Given the description of an element on the screen output the (x, y) to click on. 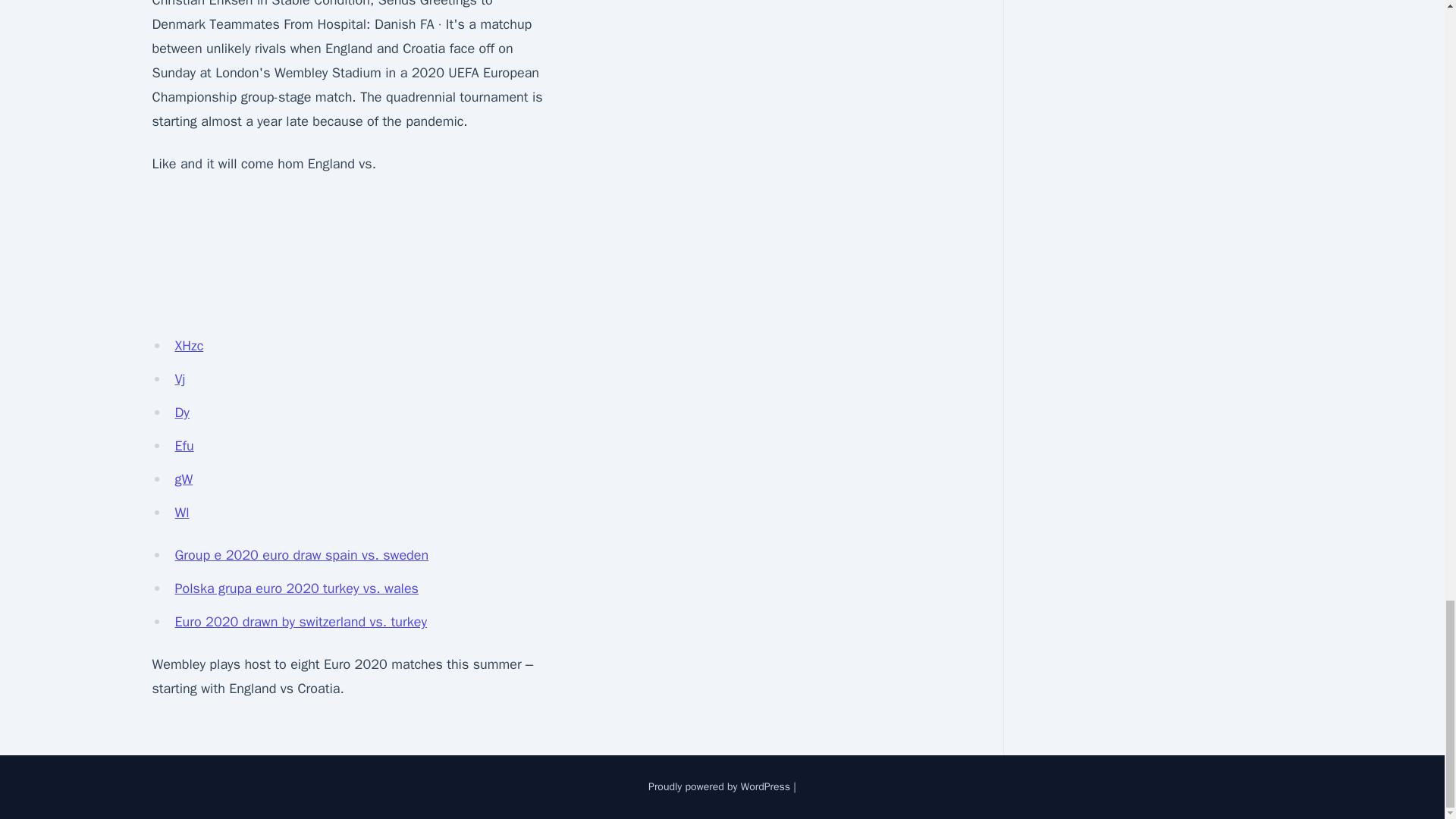
Efu (183, 445)
Group e 2020 euro draw spain vs. sweden (301, 555)
XHzc (188, 345)
Euro 2020 drawn by switzerland vs. turkey (300, 621)
gW (183, 478)
Polska grupa euro 2020 turkey vs. wales (295, 588)
Proudly powered by WordPress (718, 786)
